Given the description of an element on the screen output the (x, y) to click on. 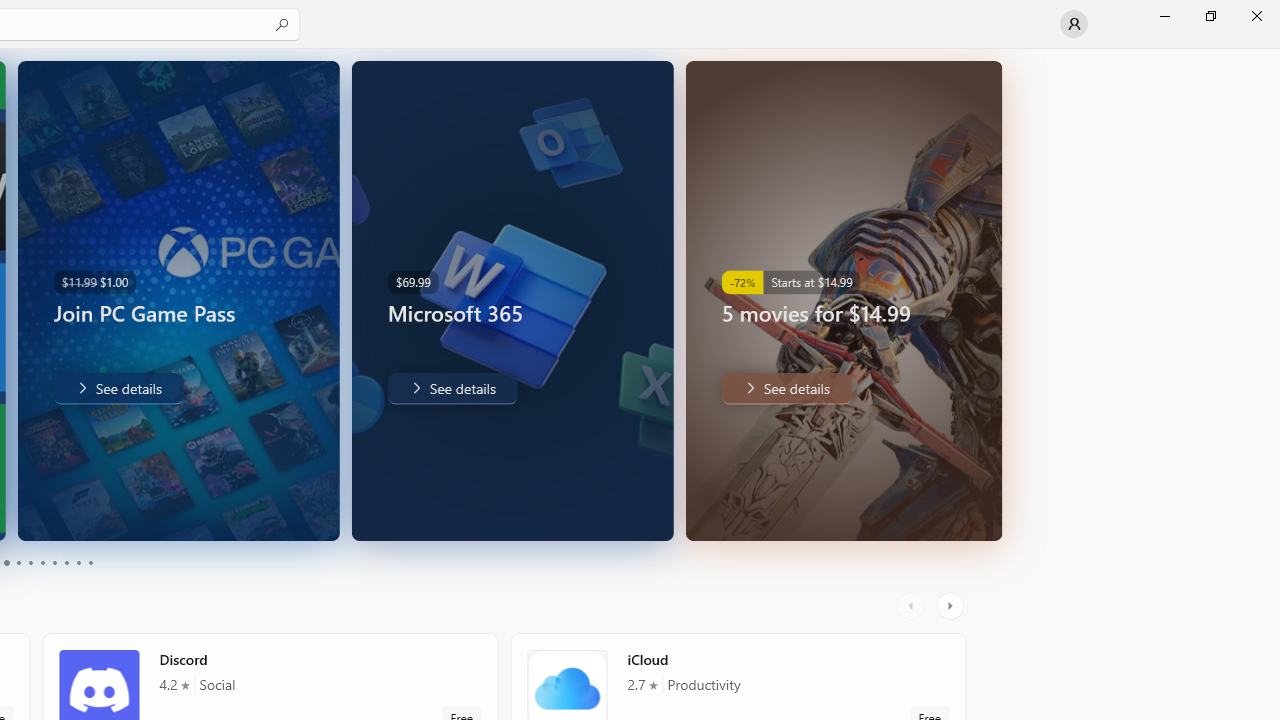
Page 4 (17, 562)
Page 6 (41, 562)
AutomationID: LeftScrollButton (913, 606)
Restore Microsoft Store (1210, 15)
AutomationID: Image (989, 300)
Page 5 (29, 562)
Page 7 (54, 562)
Minimize Microsoft Store (1164, 15)
Page 3 (5, 562)
Page 9 (77, 562)
Close Microsoft Store (1256, 15)
Page 8 (65, 562)
Page 10 (90, 562)
